Given the description of an element on the screen output the (x, y) to click on. 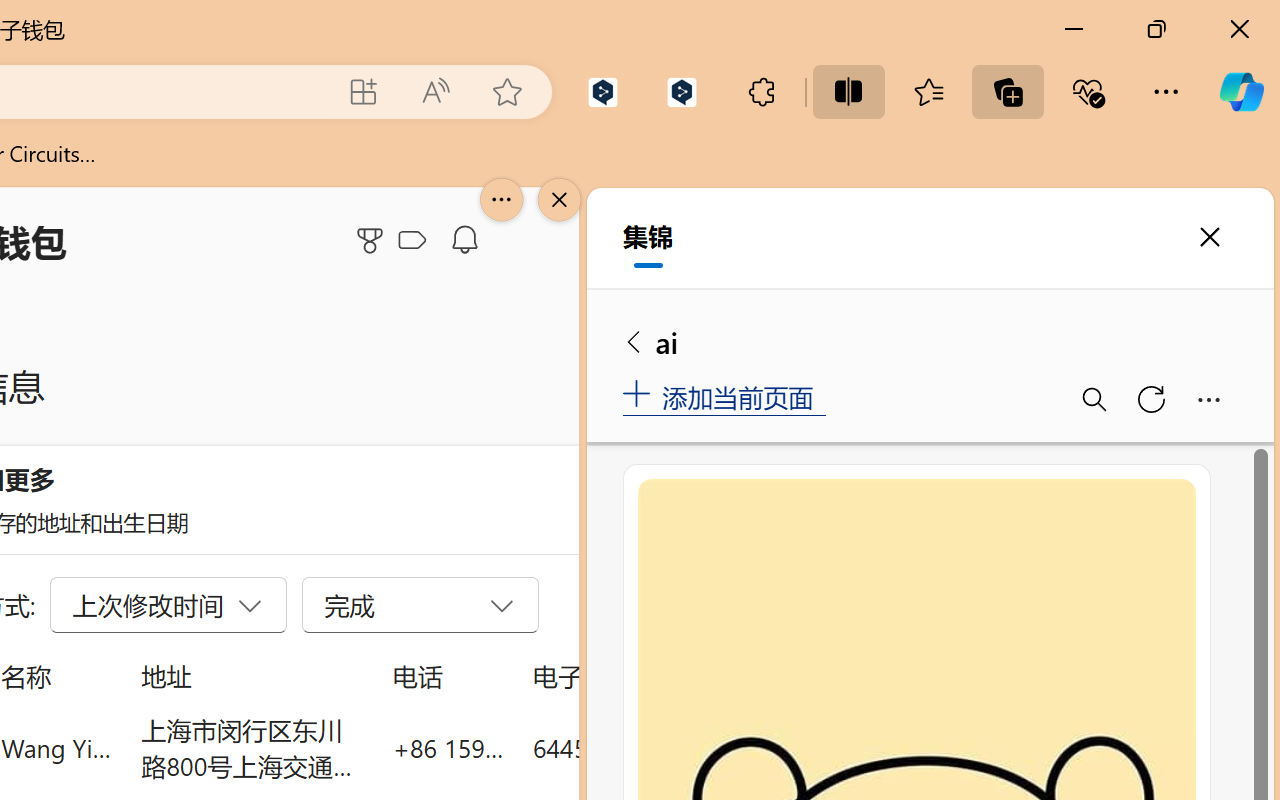
+86 159 0032 4640 (447, 747)
